Given the description of an element on the screen output the (x, y) to click on. 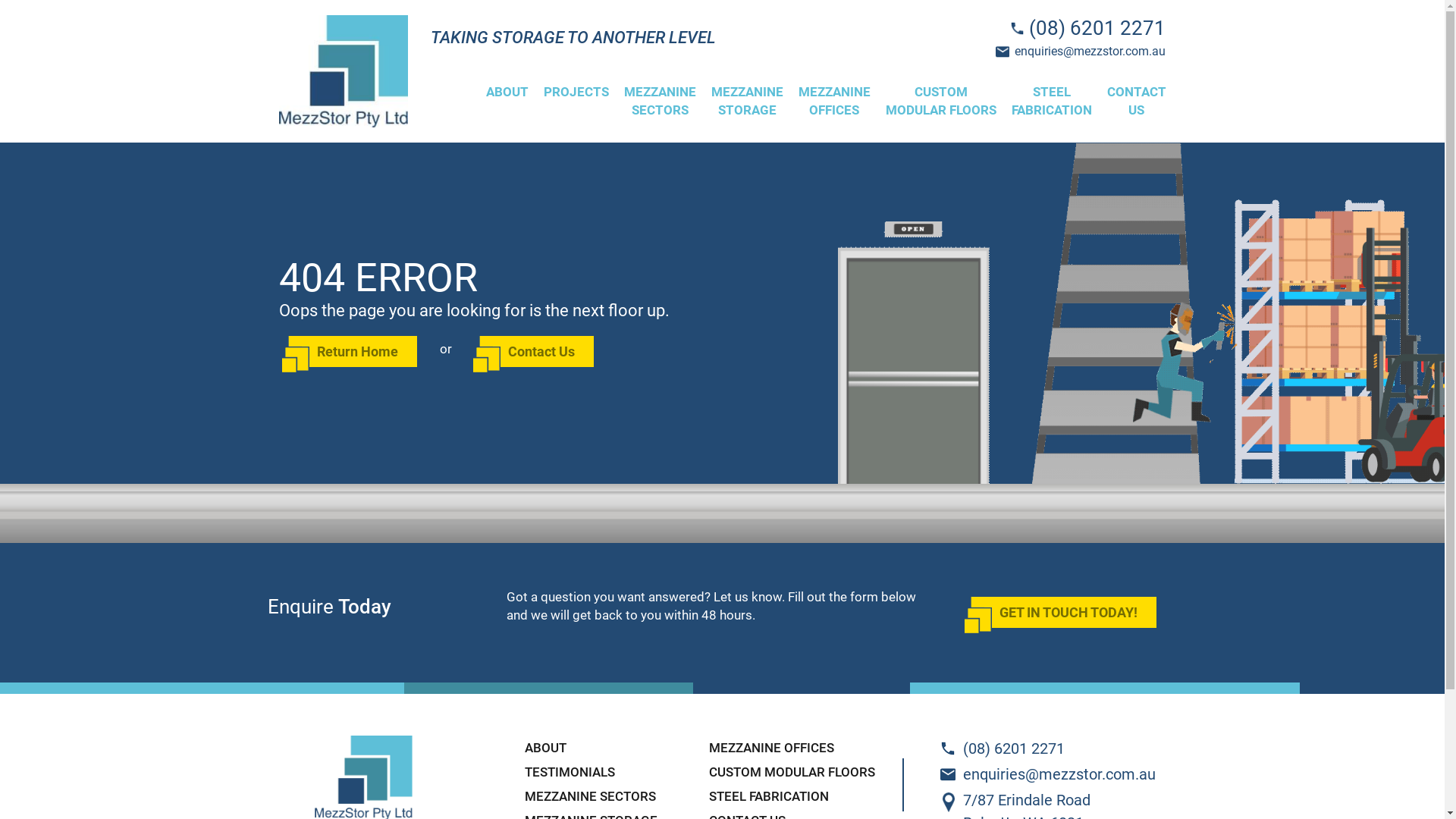
PROJECTS Element type: text (575, 91)
STEEL FABRICATION Element type: text (768, 795)
(08) 6201 2271 Element type: text (1087, 27)
(08) 6201 2271 Element type: text (1042, 748)
Return Home Element type: text (363, 351)
enquiries@mezzstor.com.au Element type: text (1042, 774)
STEEL FABRICATION Element type: text (1051, 100)
CUSTOM MODULAR FLOORS Element type: text (941, 100)
MEZZANINE SECTORS Element type: text (589, 795)
MEZZANINE OFFICES Element type: text (833, 100)
MEZZANINE OFFICES Element type: text (771, 747)
ABOUT Element type: text (506, 91)
CONTACT US Element type: text (1132, 100)
MEZZANINE SECTORS Element type: text (658, 100)
TESTIMONIALS Element type: text (569, 771)
enquiries@mezzstor.com.au Element type: text (1080, 50)
GET IN TOUCH TODAY! Element type: text (1073, 611)
CUSTOM MODULAR FLOORS Element type: text (792, 771)
ABOUT Element type: text (545, 747)
MEZZANINE STORAGE Element type: text (746, 100)
MezzStor Pty Ltd Element type: text (328, 135)
Contact Us Element type: text (546, 351)
